Given the description of an element on the screen output the (x, y) to click on. 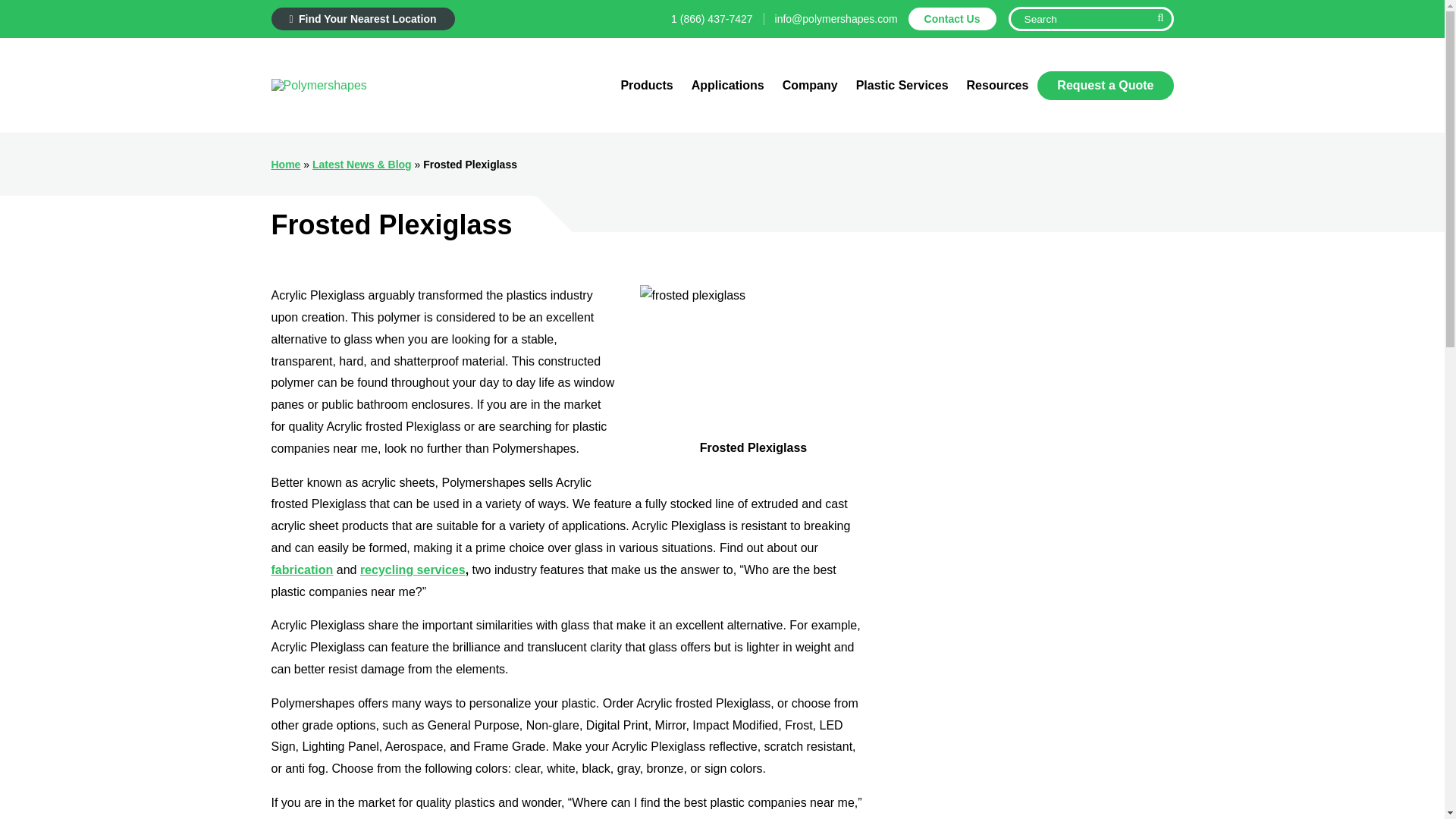
Company (810, 85)
Find Location (584, 62)
recycling services (412, 569)
Contact Us (951, 18)
Request a Quote (1104, 85)
Find Your Nearest Location (362, 18)
Resources (998, 85)
Applications (727, 85)
Home (285, 164)
Plastic Services (902, 85)
fabrication (301, 569)
Products (646, 85)
